Given the description of an element on the screen output the (x, y) to click on. 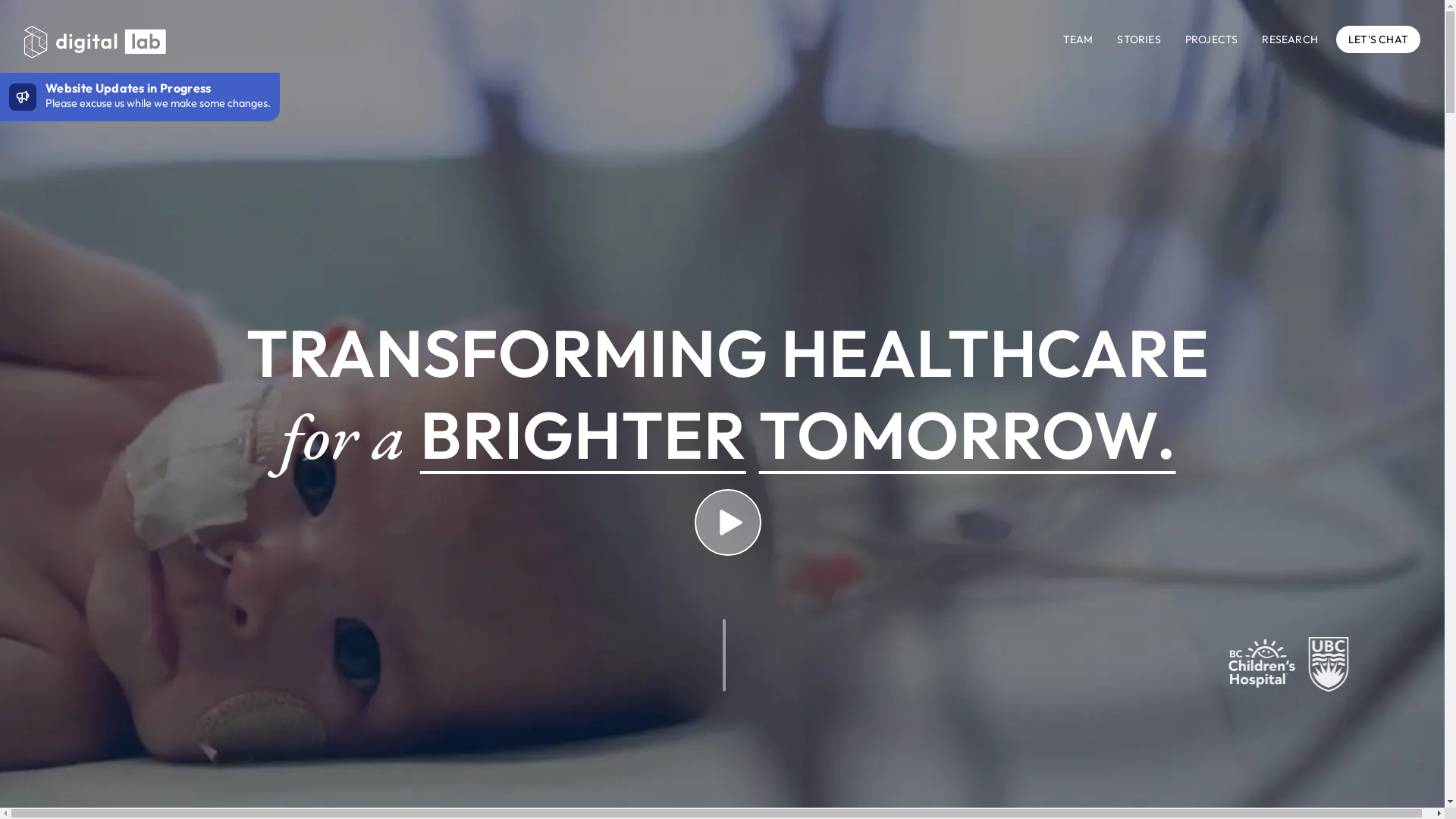
TEAM Element type: text (1078, 39)
LET'S CHAT Element type: text (1378, 39)
PROJECTS Element type: text (1211, 39)
RESEARCH Element type: text (1289, 39)
STORIES Element type: text (1138, 39)
